Given the description of an element on the screen output the (x, y) to click on. 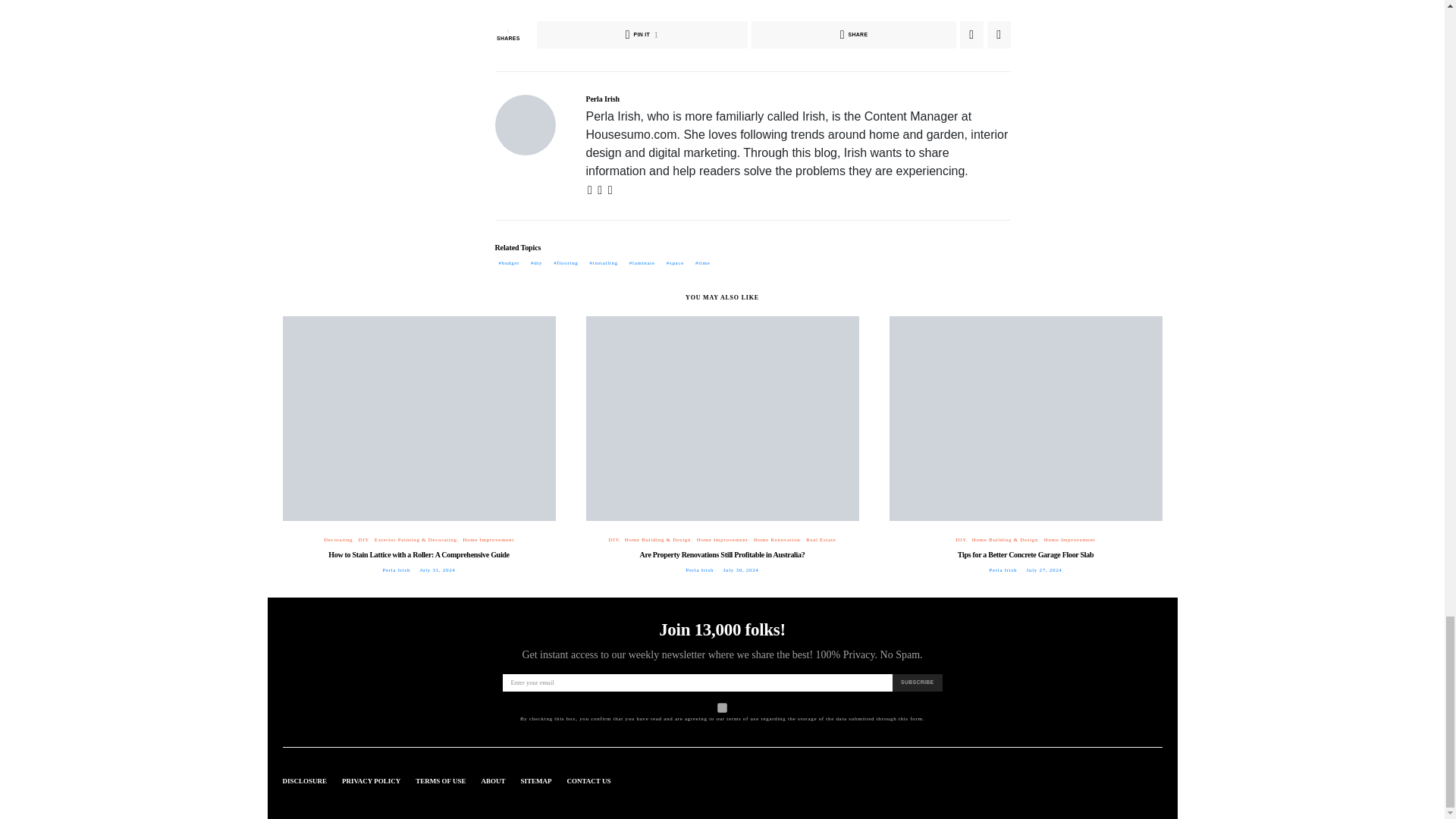
View all posts by Perla Irish (699, 570)
View all posts by Perla Irish (1002, 570)
on (722, 707)
View all posts by Perla Irish (395, 570)
